Given the description of an element on the screen output the (x, y) to click on. 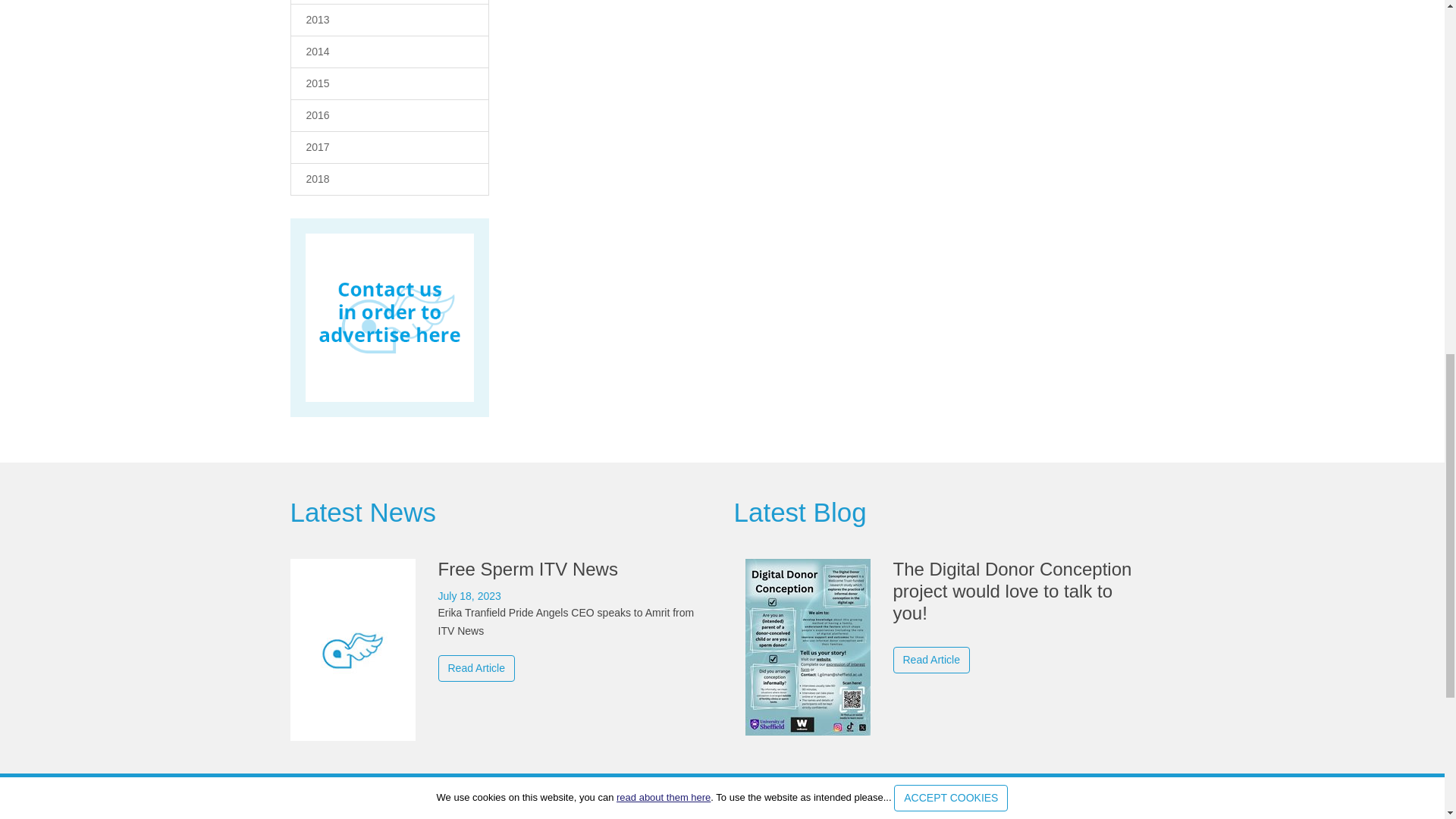
Advertise with Pride Angel (389, 317)
View all (799, 512)
View all (362, 512)
Free Sperm ITV News (499, 619)
